Given the description of an element on the screen output the (x, y) to click on. 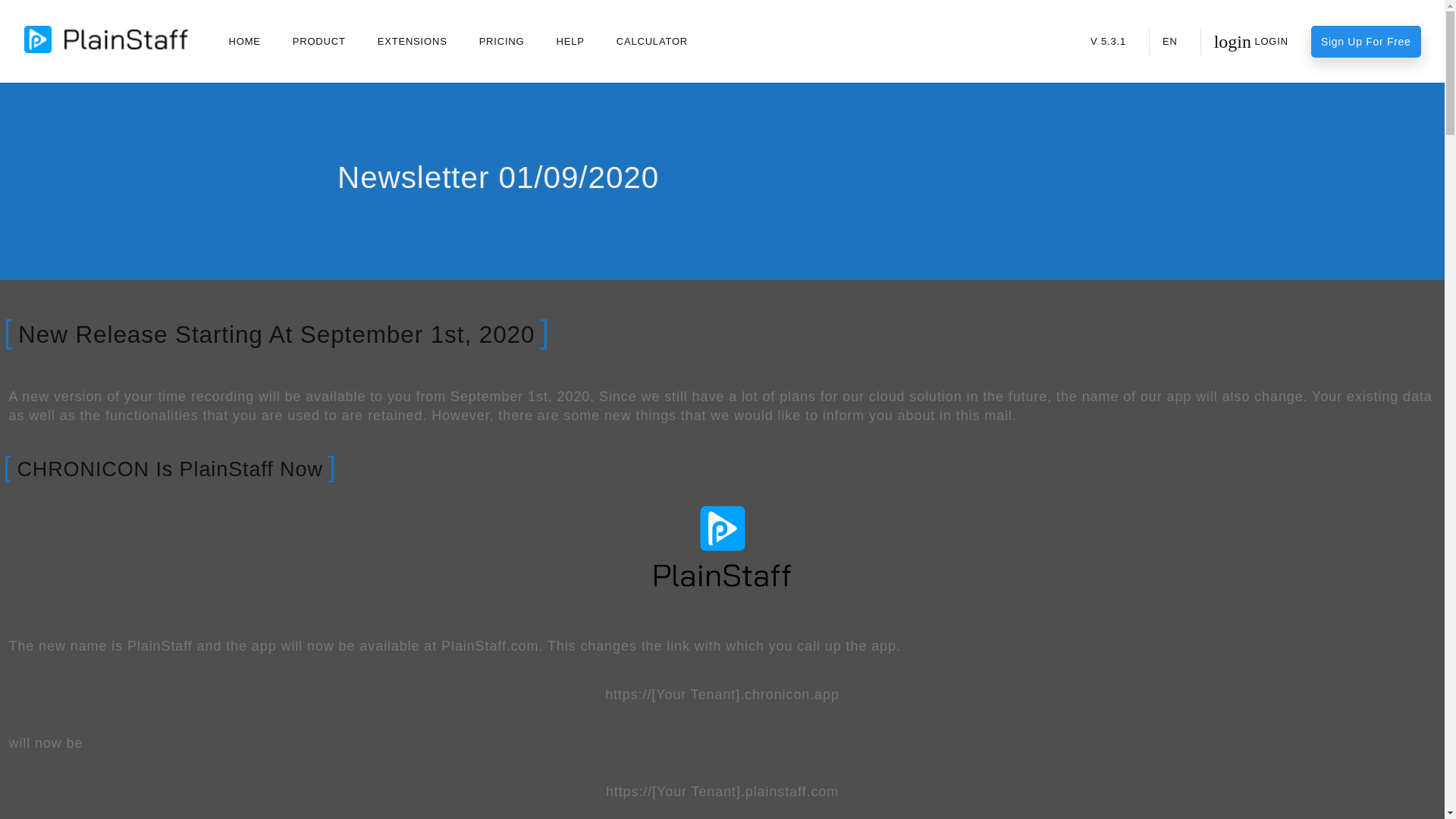
EXTENSIONS (412, 41)
PRICING (1251, 41)
CALCULATOR (502, 41)
Current Version (652, 41)
CALCULATOR (1108, 41)
HOME (652, 41)
EXTENSIONS (244, 41)
HELP (412, 41)
HELP (570, 41)
PRICING (570, 41)
Sign Up For Free (502, 41)
V 5.3.1 (1366, 41)
HOME (1108, 41)
PRODUCT (244, 41)
